Given the description of an element on the screen output the (x, y) to click on. 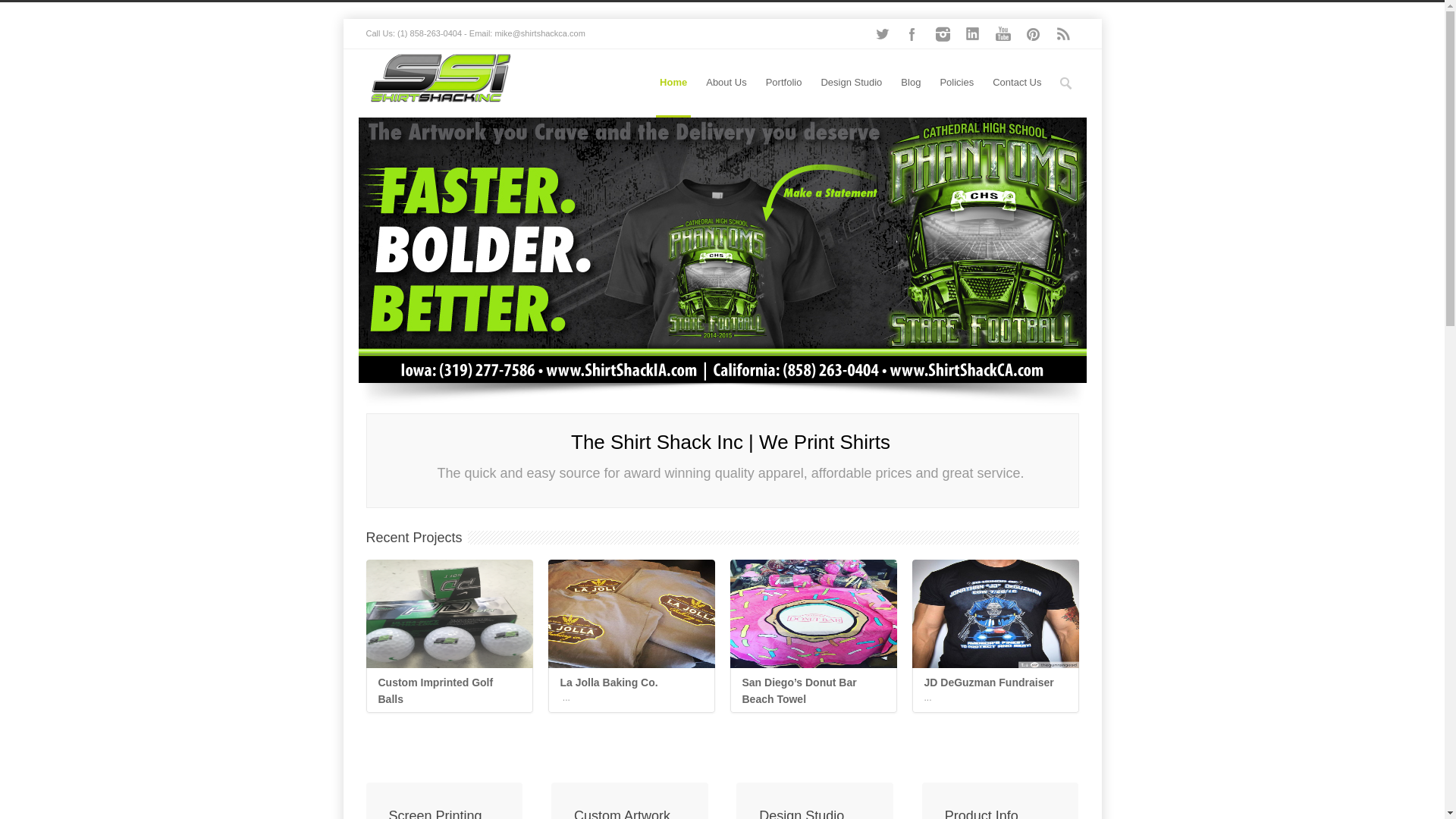
La Jolla Baking Co. (630, 690)
Instagram (941, 33)
La Jolla Baking Co. (630, 613)
Contact Us (1016, 83)
Facebook (911, 33)
Blog (994, 690)
About Us (910, 83)
Twitter (630, 690)
LinkedIn (448, 690)
RSS (725, 83)
Custom Imprinted Golf Balls (881, 33)
Design Studio (971, 33)
